Given the description of an element on the screen output the (x, y) to click on. 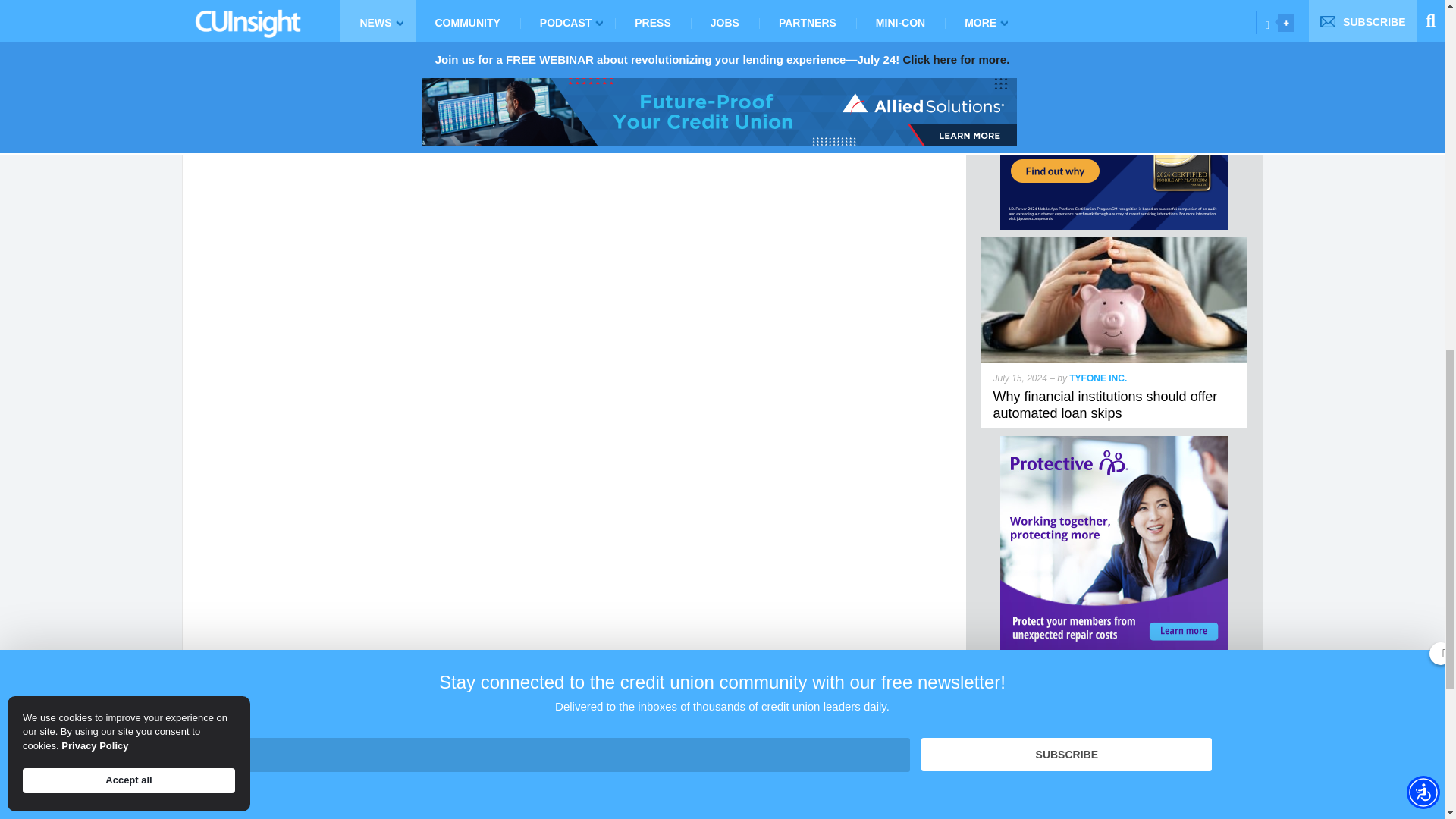
Why financial institutions should offer automated loan skips (1104, 404)
Why financial institutions should offer automated loan skips (1114, 243)
